Given the description of an element on the screen output the (x, y) to click on. 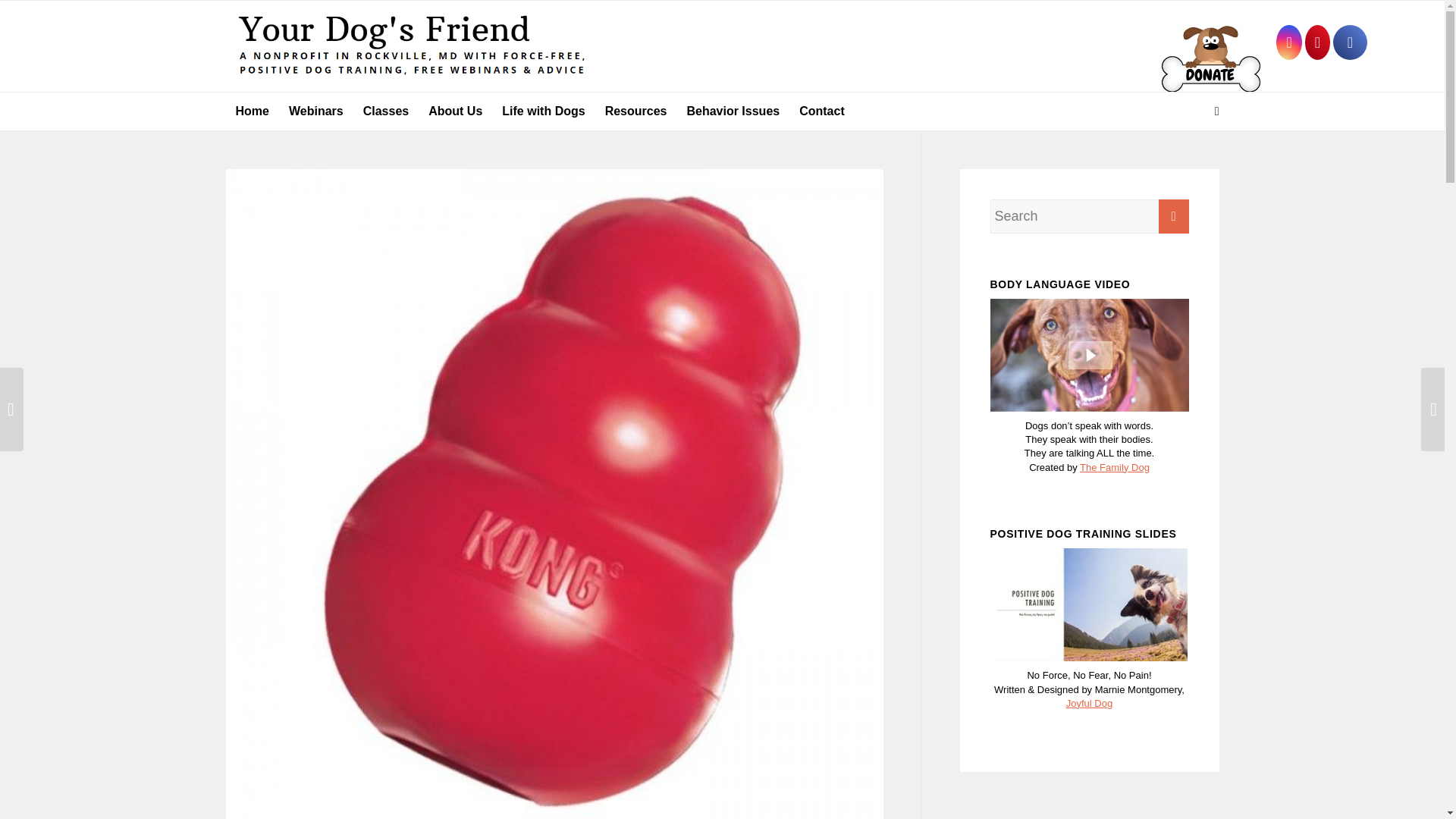
YDF-site-name-tagline2 (410, 45)
About Us (455, 111)
Life with Dogs (543, 111)
Classes (386, 111)
Webinars (316, 111)
Home (252, 111)
